Given the description of an element on the screen output the (x, y) to click on. 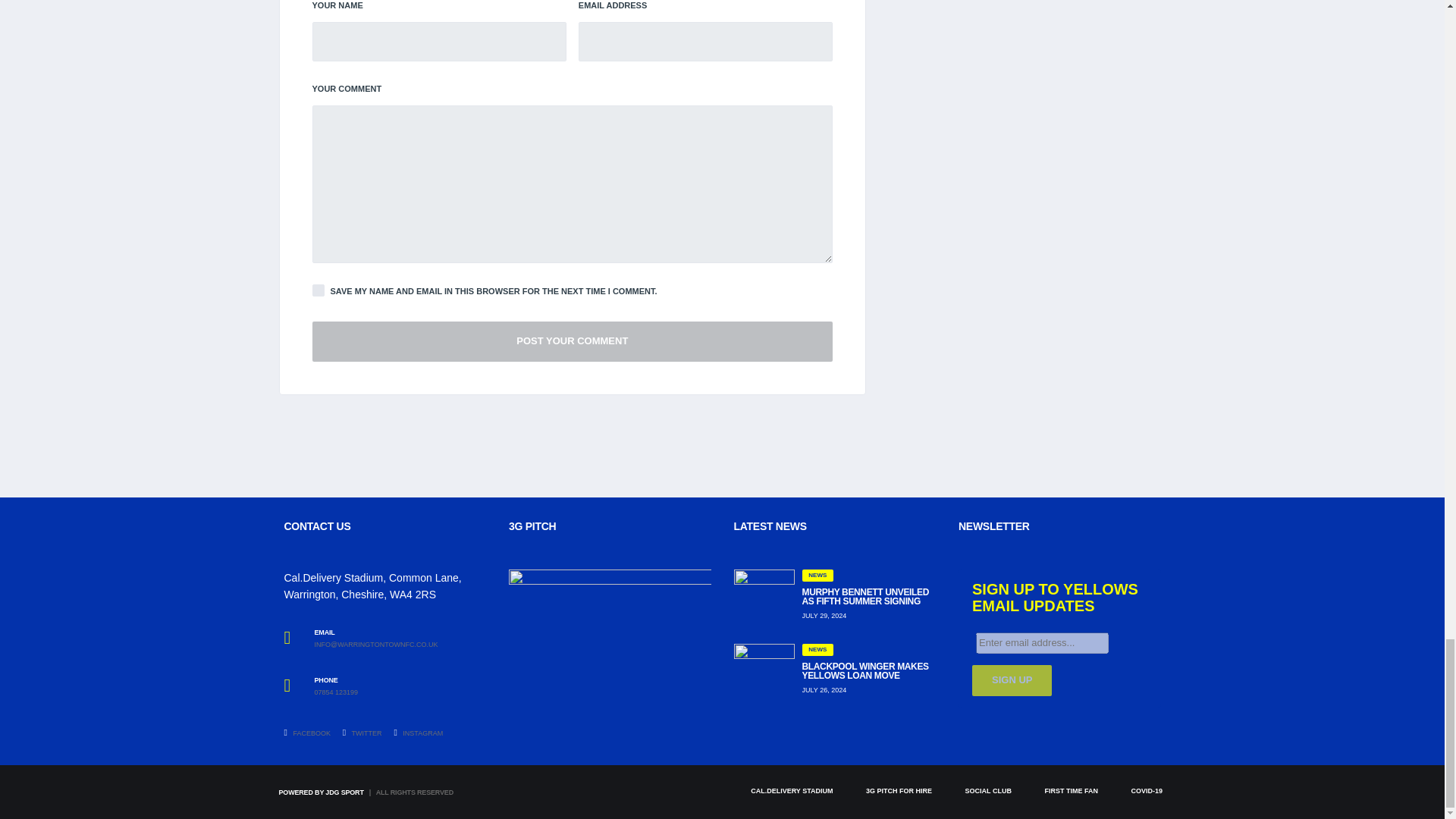
Post Your Comment (572, 341)
Sign up (1011, 680)
